Given the description of an element on the screen output the (x, y) to click on. 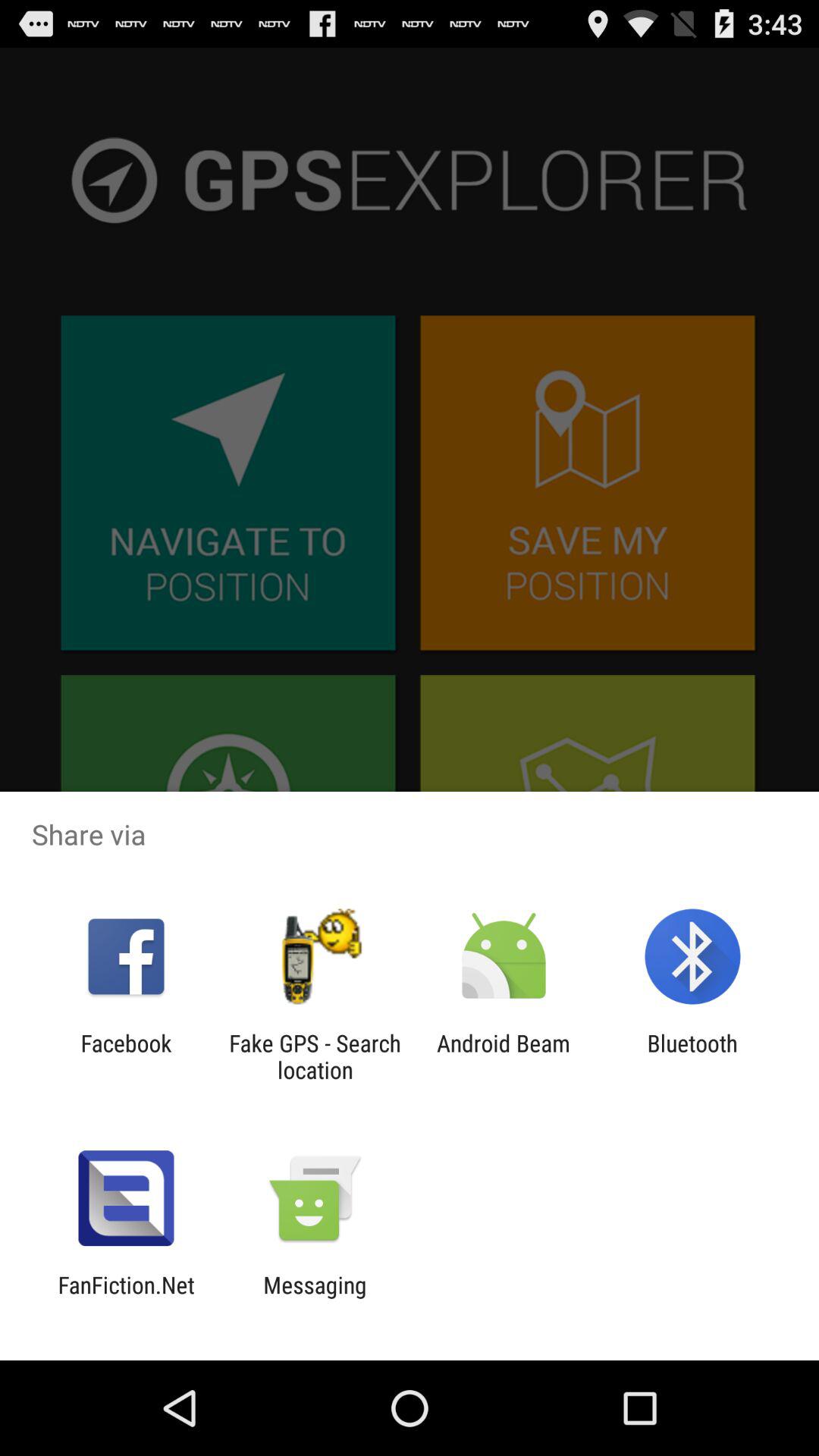
click the facebook icon (125, 1056)
